Given the description of an element on the screen output the (x, y) to click on. 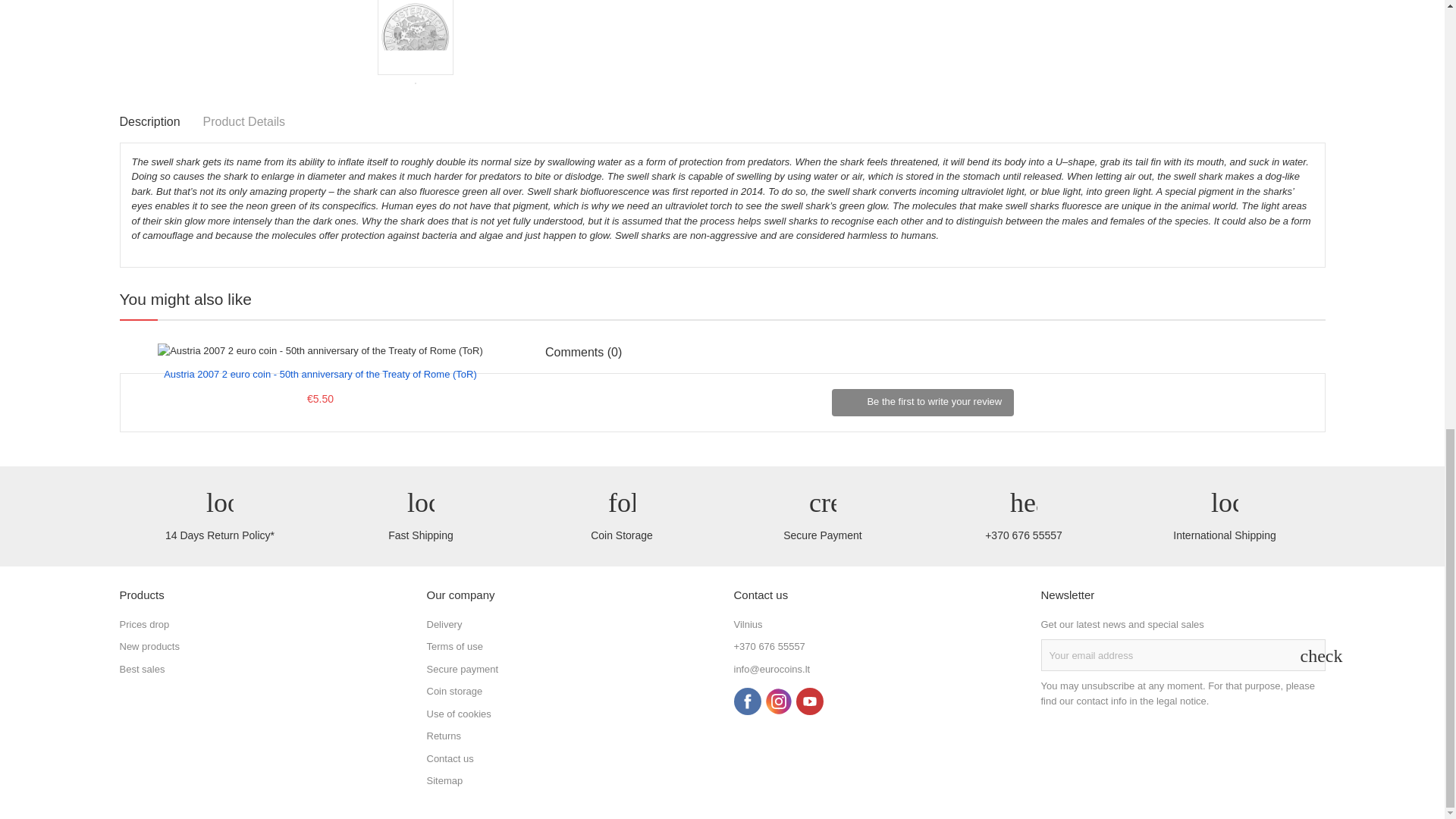
Terms of use (453, 645)
Our new products (149, 645)
Our secure payment method (461, 668)
Our best sales (142, 668)
Our special products (144, 624)
Our terms and conditions of delivery (443, 624)
